Given the description of an element on the screen output the (x, y) to click on. 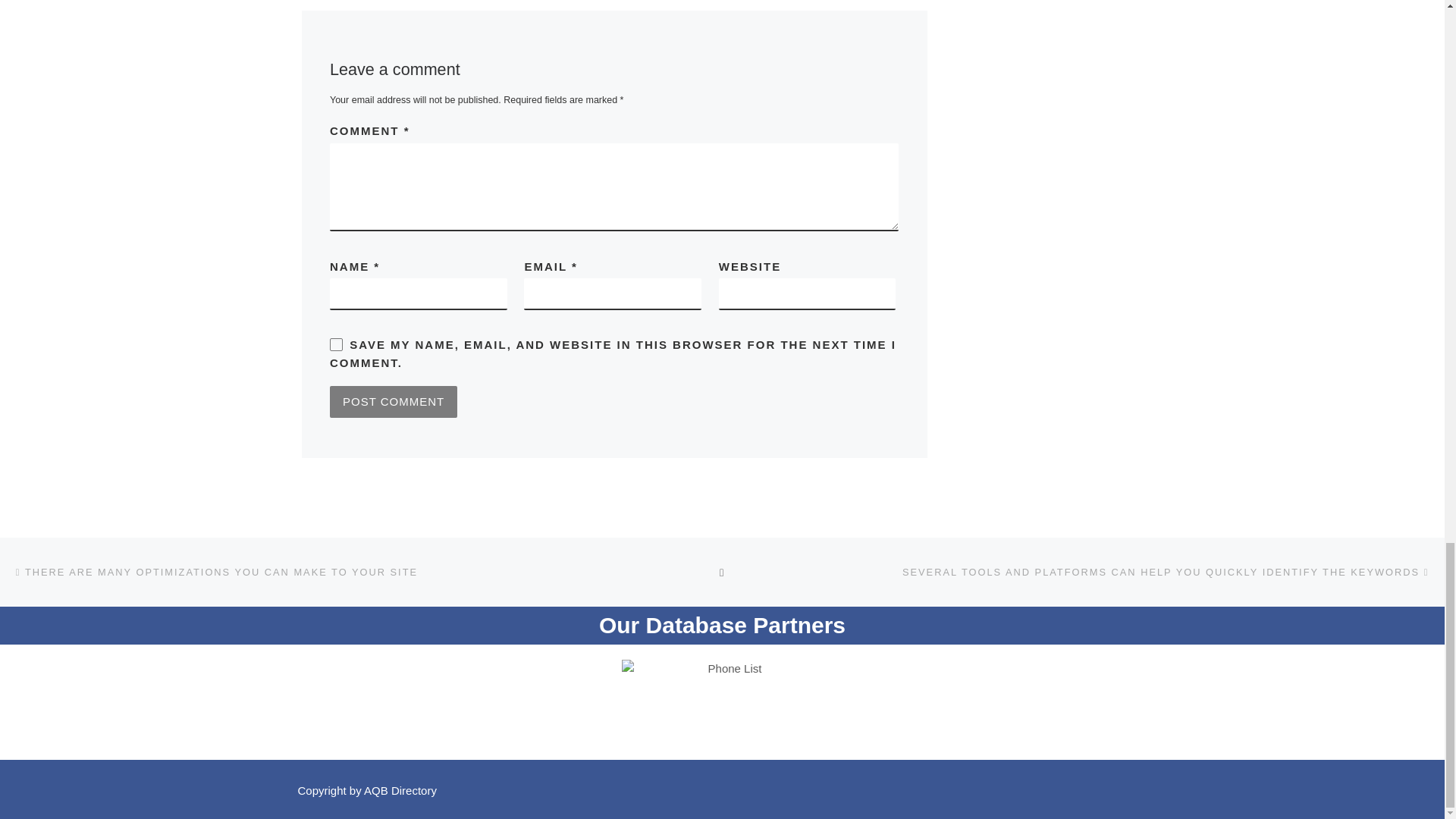
yes (336, 344)
Post Comment (393, 401)
